Given the description of an element on the screen output the (x, y) to click on. 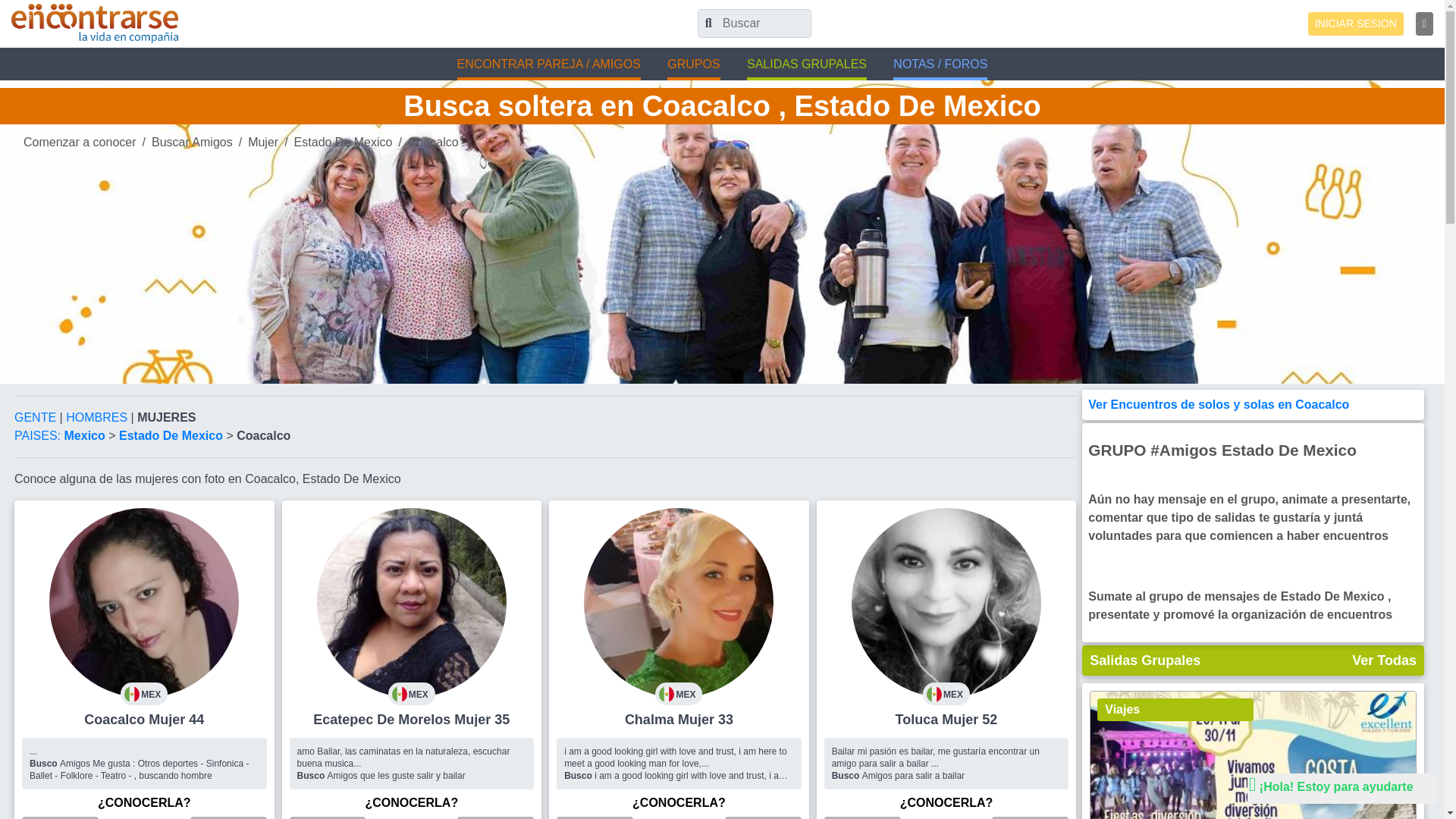
Comenzar a conocer (79, 141)
MEX (411, 602)
Conocer mujeres de   (172, 435)
SALIDAS GRUPALES (806, 65)
Buscar mujeres de Mexico  (86, 435)
Buscar mujeres (262, 141)
Buscar Amigos (191, 141)
Mexico (86, 435)
Mujer (262, 141)
MEX (143, 602)
